Given the description of an element on the screen output the (x, y) to click on. 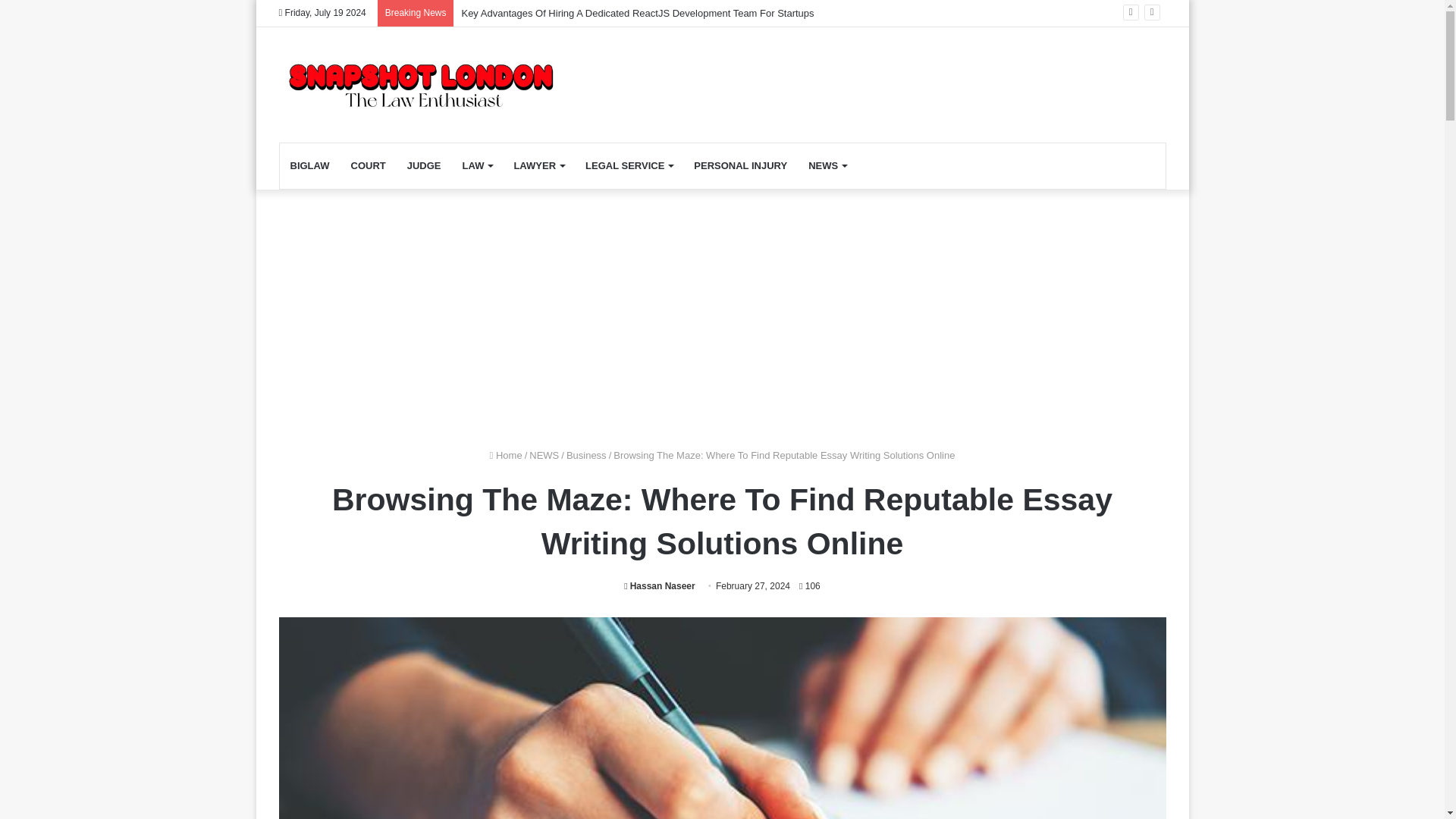
LAWYER (538, 166)
JUDGE (423, 166)
PERSONAL INJURY (739, 166)
LEGAL SERVICE (628, 166)
Hassan Naseer (659, 585)
Home (505, 455)
COURT (367, 166)
NEWS (827, 166)
BIGLAW (309, 166)
LAW (477, 166)
snapshotlondon (419, 84)
